Given the description of an element on the screen output the (x, y) to click on. 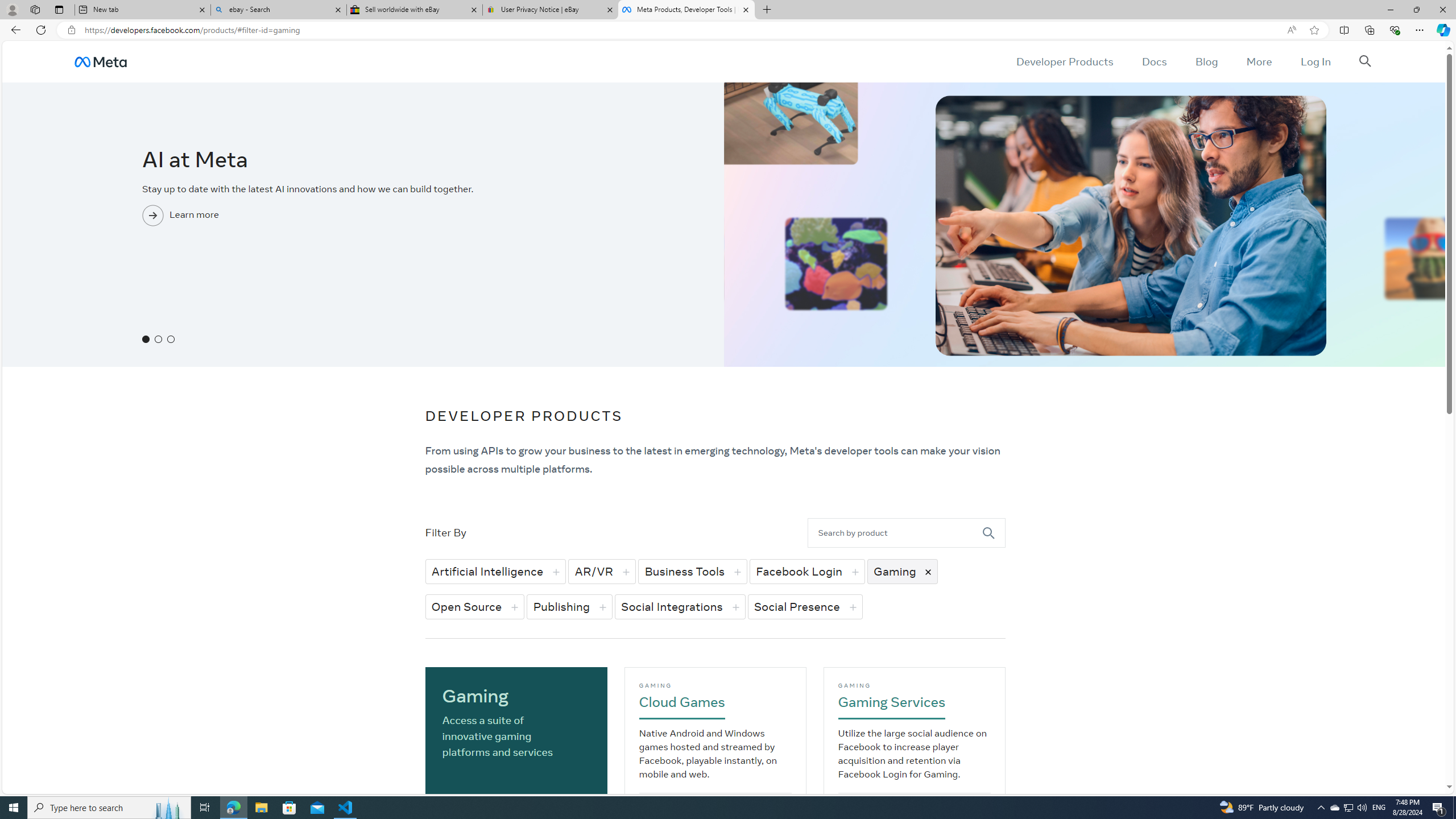
Social Integrations (679, 606)
User Privacy Notice | eBay (550, 9)
Sell worldwide with eBay (414, 9)
